Given the description of an element on the screen output the (x, y) to click on. 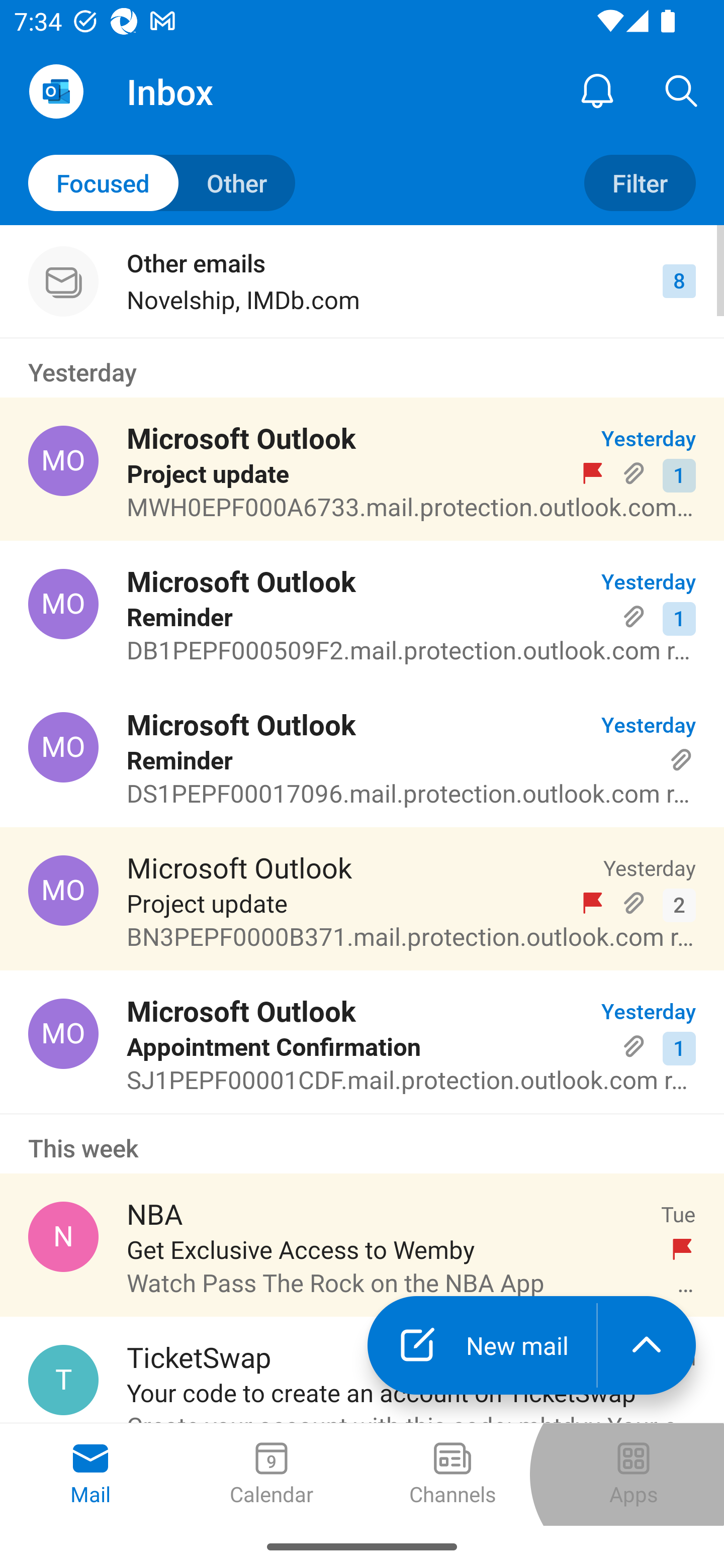
Notification Center (597, 90)
Search, ,  (681, 90)
Open Navigation Drawer (55, 91)
Toggle to other mails (161, 183)
Filter (639, 183)
Other emails Novelship, IMDb.com 8 (362, 281)
NBA, NBA@email.nba.com (63, 1236)
New mail (481, 1344)
launch the extended action menu (646, 1344)
TicketSwap, info@ticketswap.com (63, 1380)
Calendar (271, 1474)
Channels (452, 1474)
Apps (633, 1474)
